Given the description of an element on the screen output the (x, y) to click on. 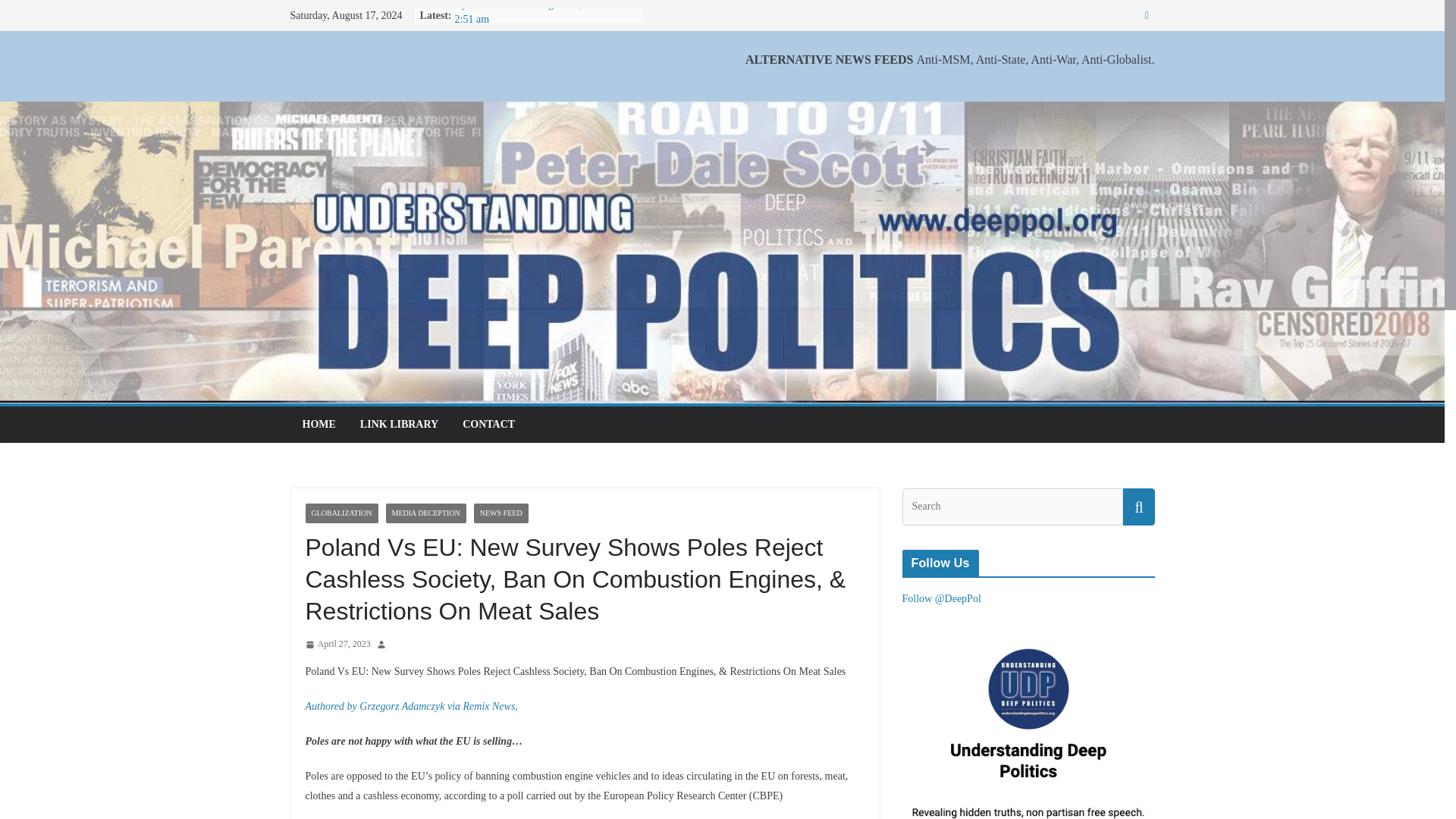
HOME (317, 424)
Authored by Grzegorz Adamczyk via Remix News, (410, 706)
LINK LIBRARY (398, 424)
April 27, 2023 (336, 644)
GLOBALIZATION (340, 513)
By: Mike Mike on August 11, 2020 at 2:51 am (534, 12)
NEWS FEED (501, 513)
CONTACT (489, 424)
MEDIA DECEPTION (425, 513)
By: Mike Mike on August 11, 2020 at 2:51 am (534, 12)
